Given the description of an element on the screen output the (x, y) to click on. 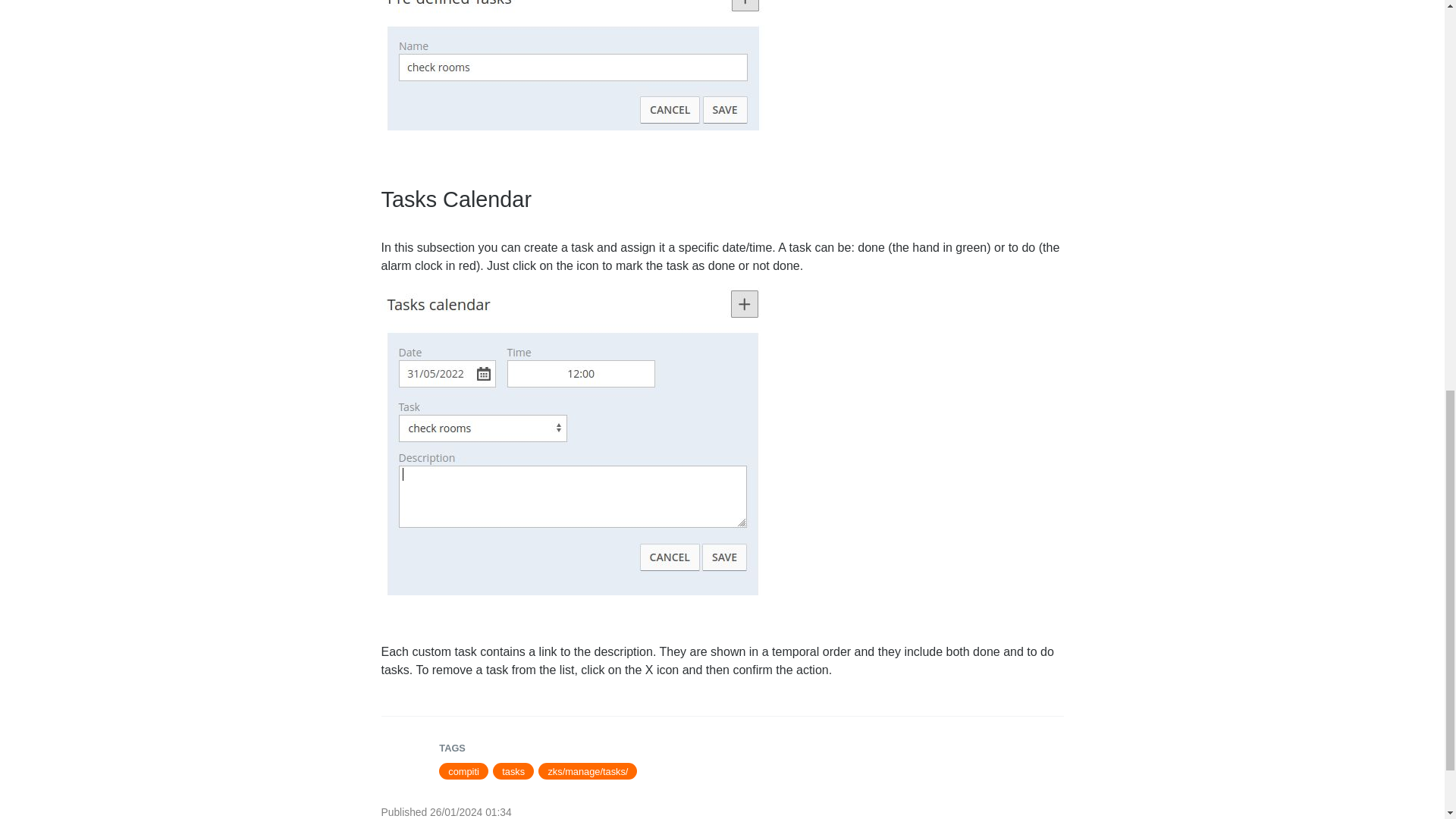
compiti (463, 770)
tasks (513, 770)
